Given the description of an element on the screen output the (x, y) to click on. 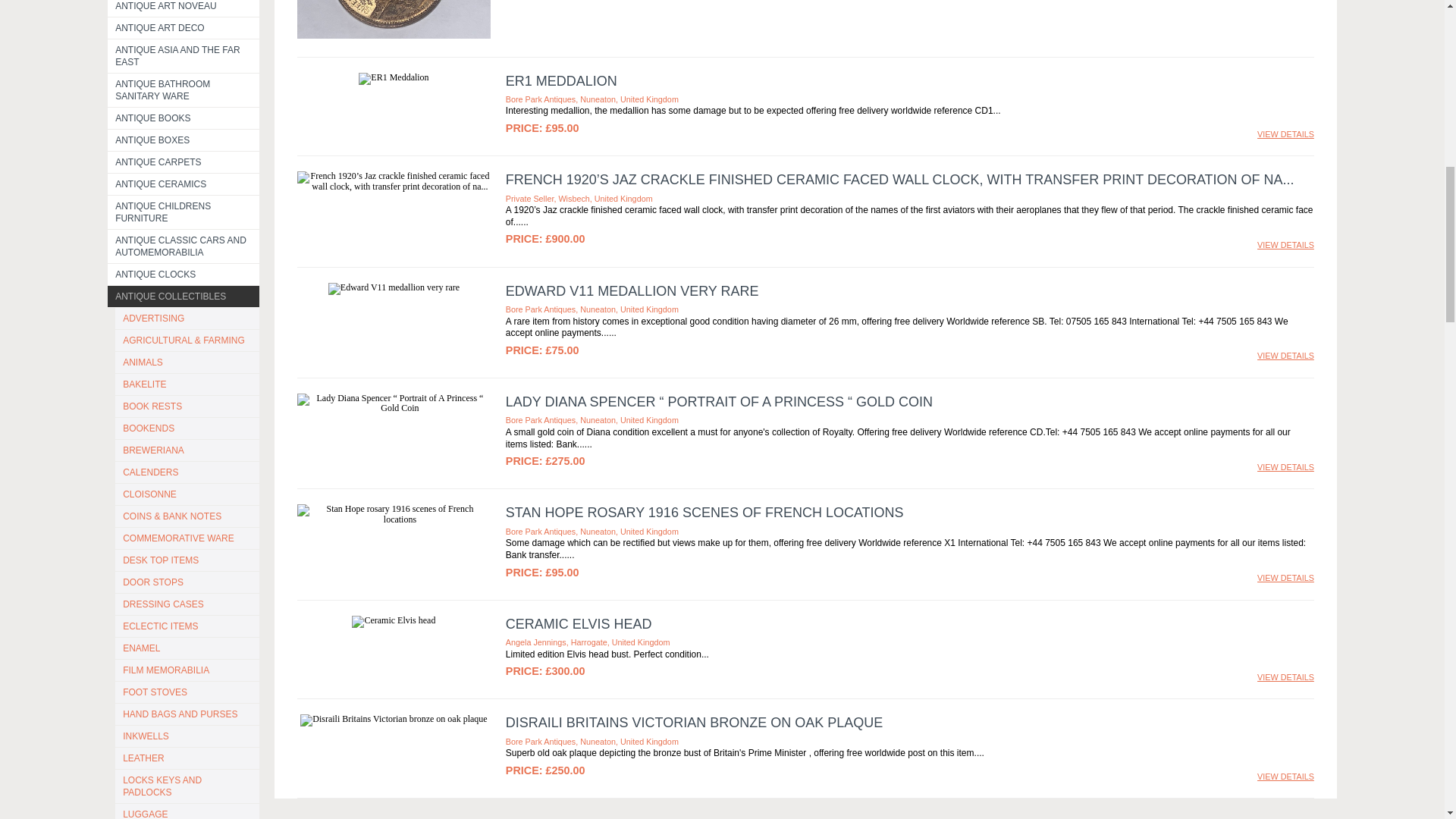
ANTIQUE ART DECO (183, 27)
ANTIQUE CERAMICS (183, 183)
ANTIQUE BATHROOM SANITARY WARE (183, 90)
ANTIQUE CARPETS (183, 161)
ANTIQUE ART NOVEAU (183, 8)
ANTIQUE ASIA AND THE FAR EAST (183, 55)
ANTIQUE BOOKS (183, 117)
ANTIQUE BOXES (183, 139)
